Given the description of an element on the screen output the (x, y) to click on. 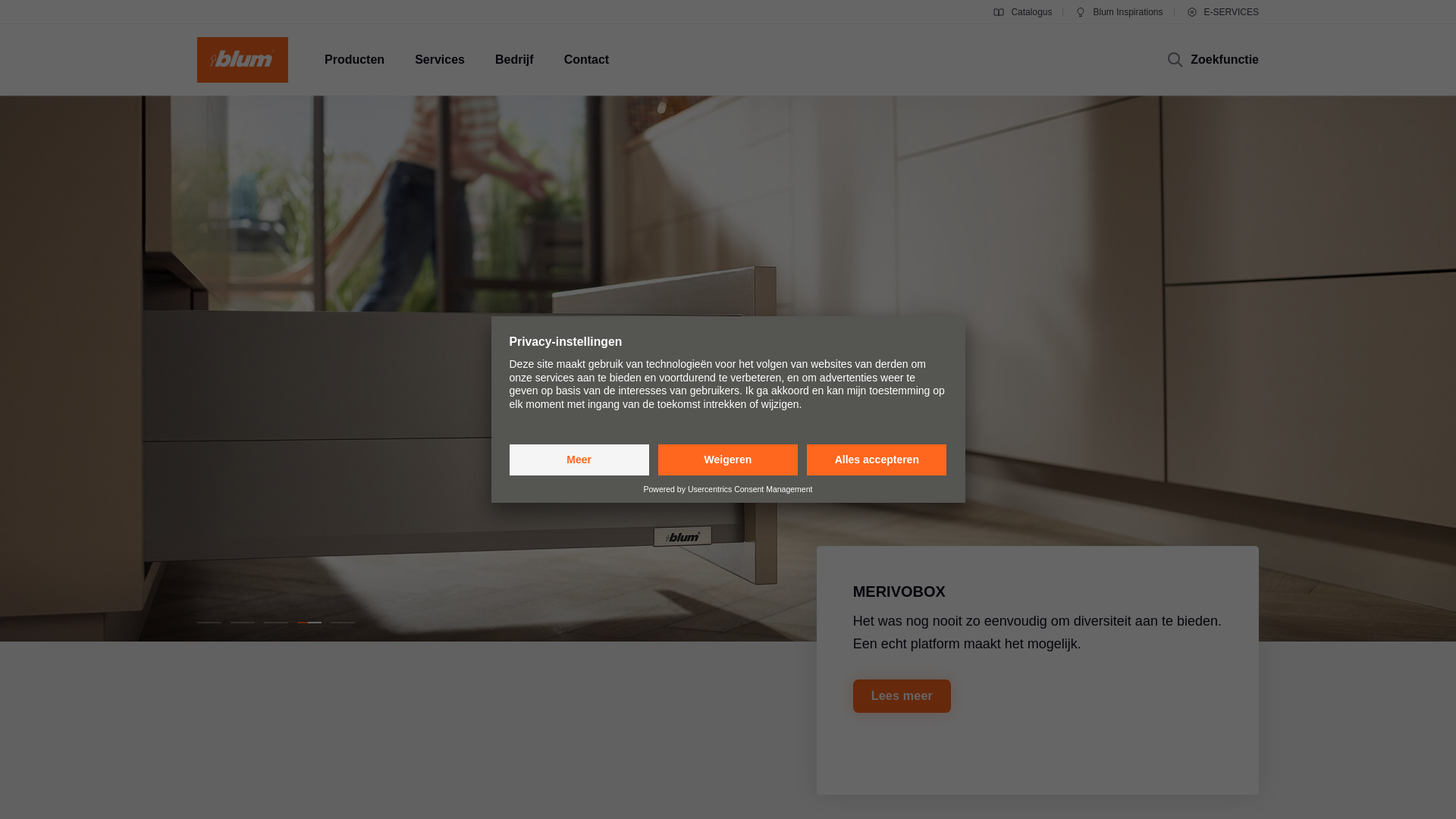
Contact Element type: text (586, 59)
Blum Element type: hover (242, 59)
Catalogus Element type: text (1021, 12)
Bedrijf Element type: text (514, 59)
Lees meer Element type: text (901, 695)
Services Element type: text (439, 59)
Producten Element type: text (354, 59)
E-SERVICES Element type: text (1222, 12)
Blum Inspirations Element type: text (1118, 12)
